Given the description of an element on the screen output the (x, y) to click on. 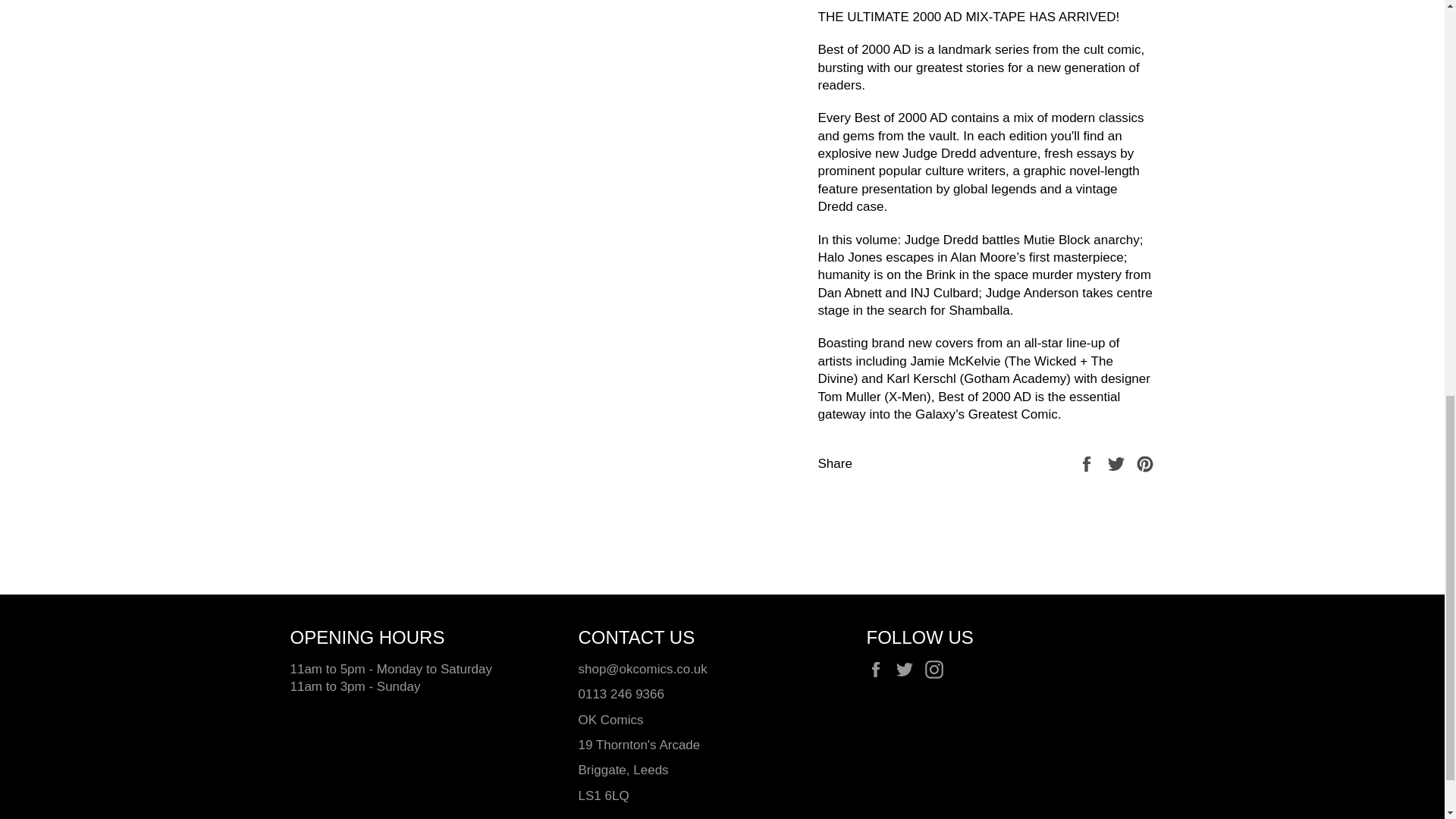
Pin on Pinterest (1144, 462)
Twitter (908, 669)
OK Comics on Facebook (878, 669)
Share on Facebook (1088, 462)
OK Comics on Instagram (937, 669)
Share on Facebook (1088, 462)
OK Comics on Twitter (908, 669)
Instagram (937, 669)
Tweet on Twitter (1117, 462)
Facebook (878, 669)
